Given the description of an element on the screen output the (x, y) to click on. 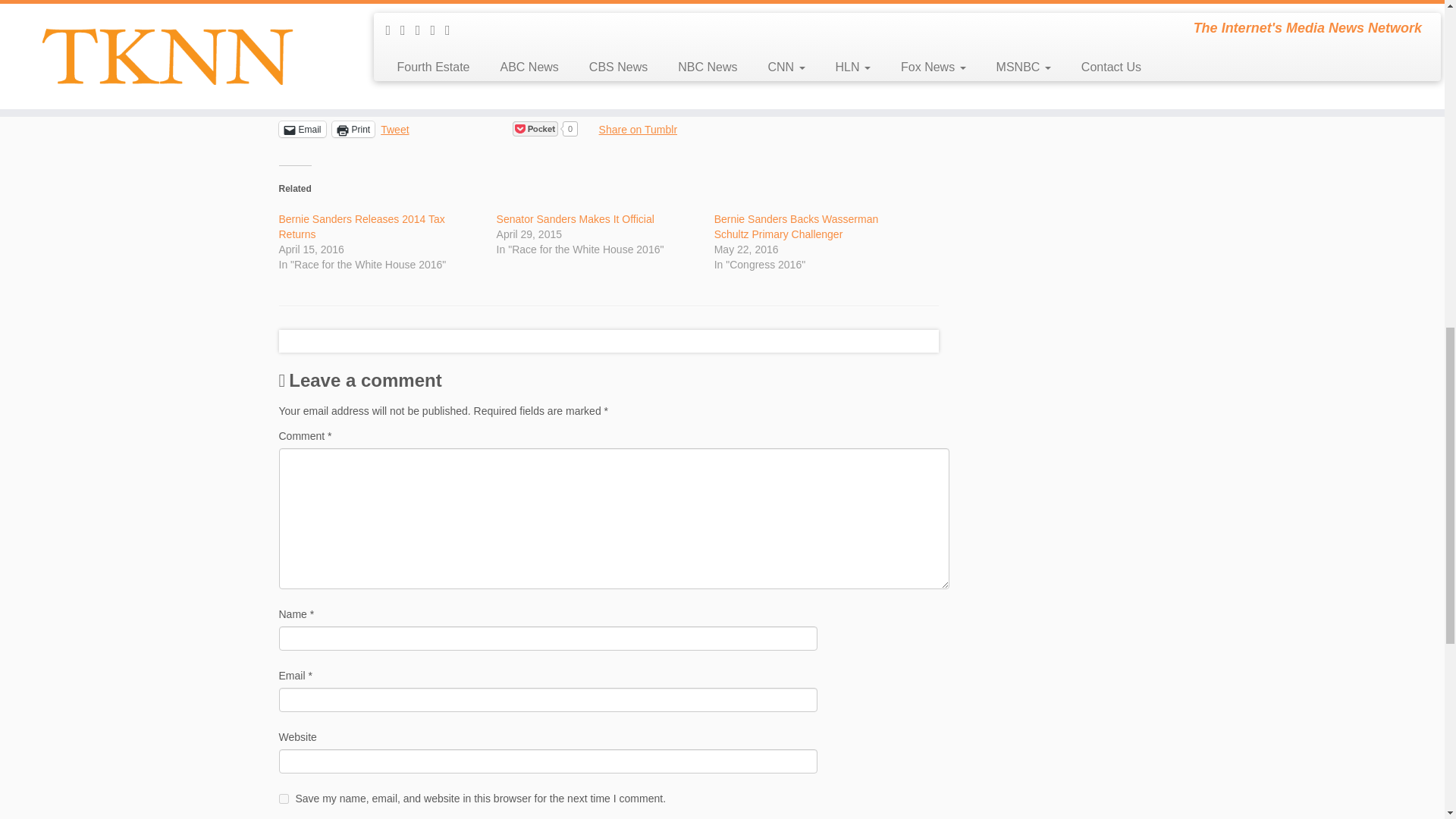
yes (283, 798)
Print (353, 129)
Email (302, 129)
Tweet (394, 128)
Bernie Sanders Backs Wasserman Schultz Primary Challenger (796, 226)
Click to print (353, 129)
Senator Sanders Makes It Official (574, 218)
Share on Tumblr (638, 128)
Share on Tumblr (638, 128)
Click to email a link to a friend (302, 129)
Bernie Sanders Releases 2014 Tax Returns (362, 226)
Bernie Sanders Releases 2014 Tax Returns (362, 226)
